Given the description of an element on the screen output the (x, y) to click on. 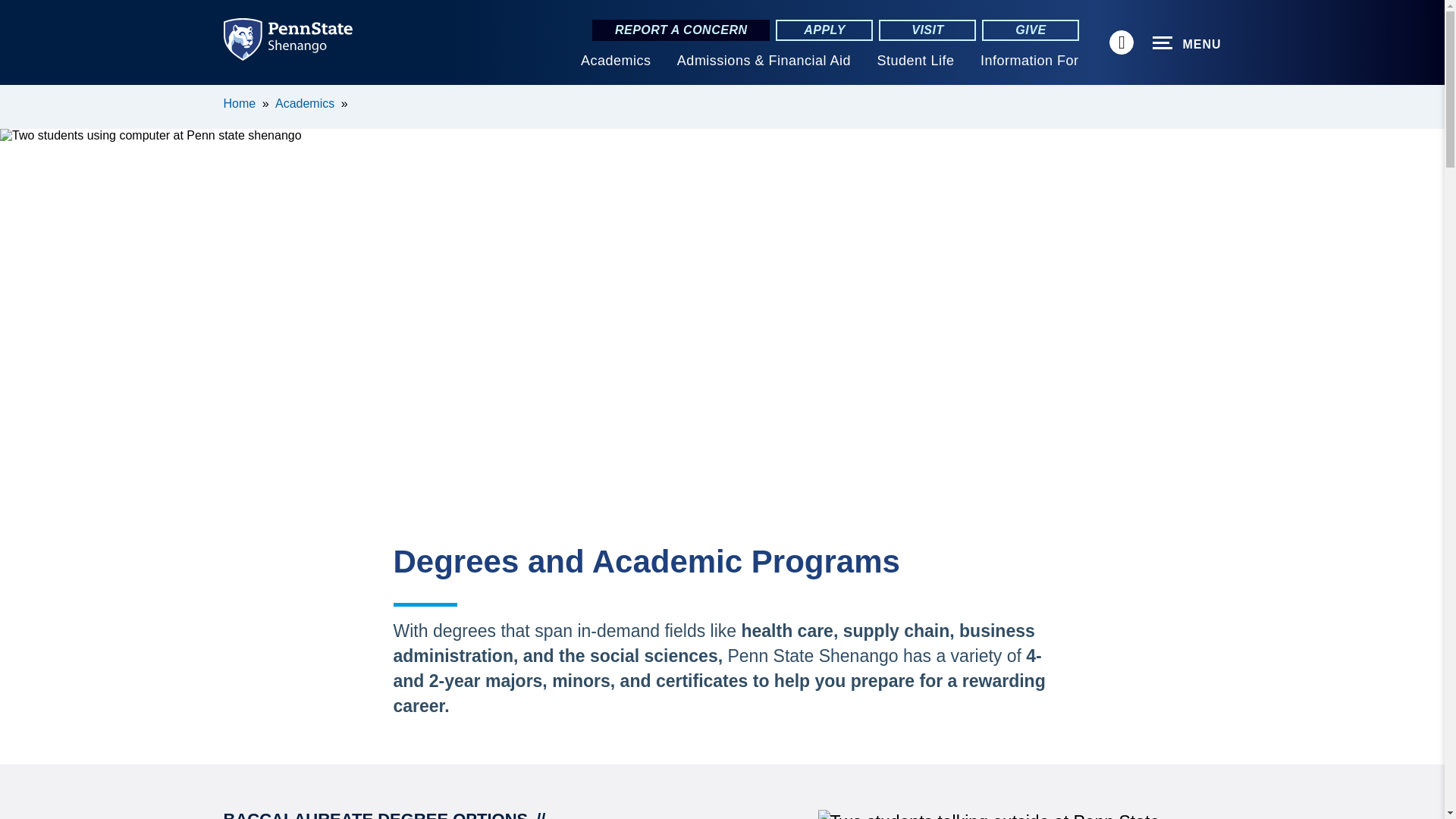
Student Life (914, 60)
SKIP TO MAIN CONTENT (19, 95)
VISIT (927, 29)
GIVE (1029, 29)
APPLY (824, 29)
REPORT A CONCERN (681, 29)
MENU (1187, 43)
Academics (615, 60)
Information For (1028, 60)
